Given the description of an element on the screen output the (x, y) to click on. 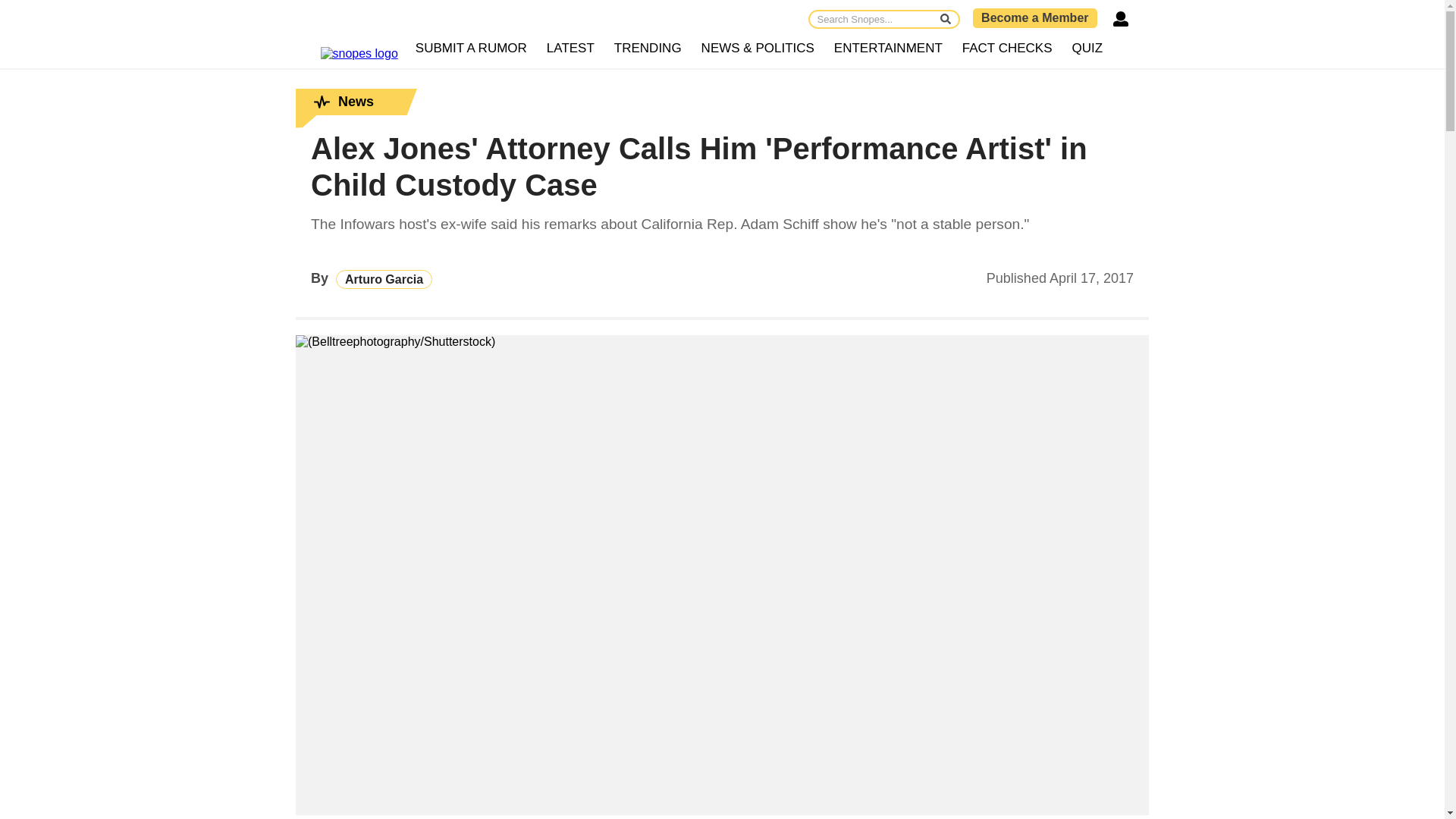
Become a Member (1034, 17)
ENTERTAINMENT (887, 47)
SUBMIT A RUMOR (471, 47)
TRENDING (647, 47)
FACT CHECKS (1007, 47)
QUIZ (1087, 47)
LATEST (570, 47)
Arturo Garcia (384, 279)
